Given the description of an element on the screen output the (x, y) to click on. 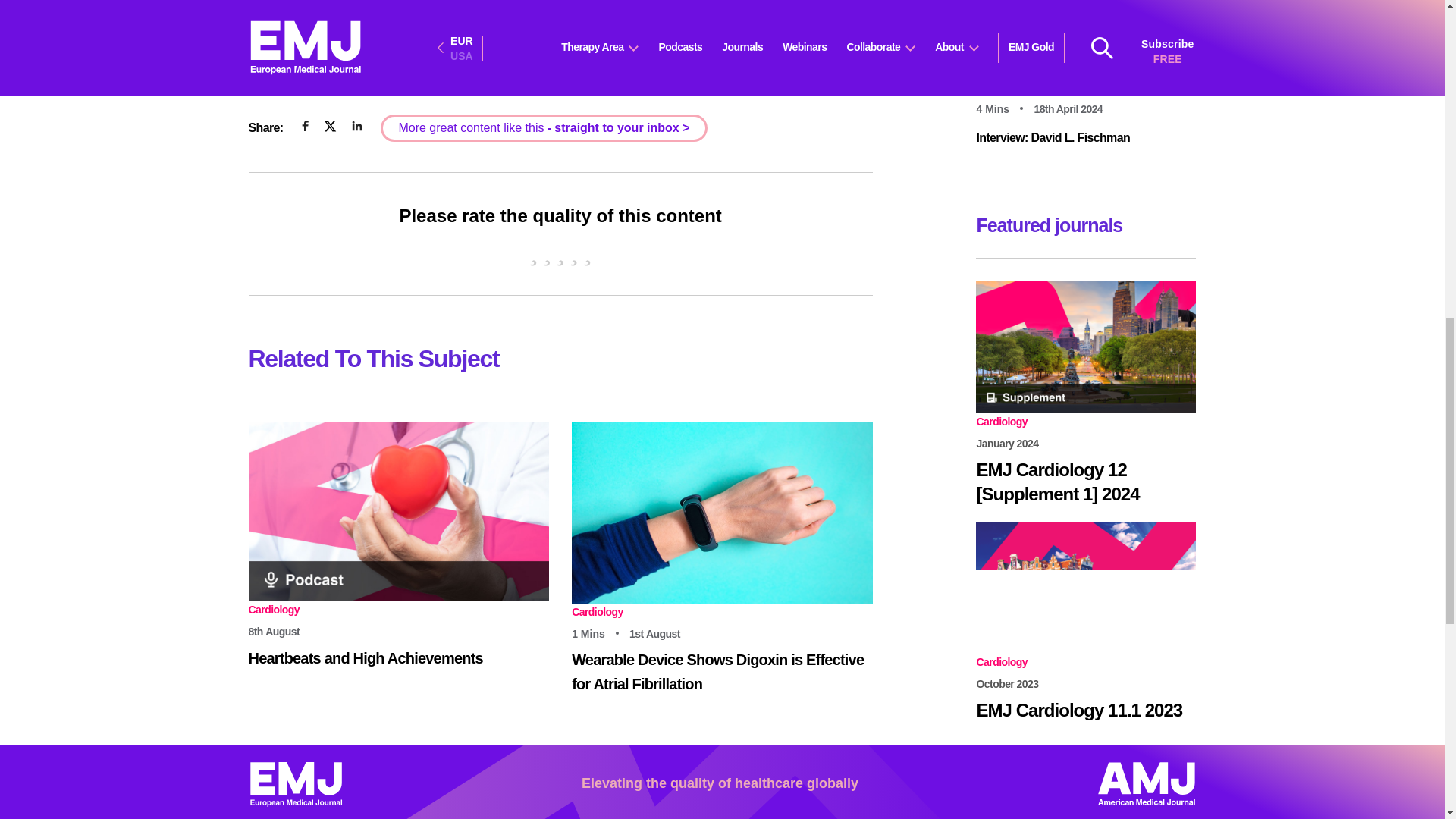
Estimated Read Time (599, 633)
Share to Twitter (331, 127)
Share to Facebook (305, 125)
Estimated Read Time (1002, 109)
Share to LinkedIn (357, 125)
